Given the description of an element on the screen output the (x, y) to click on. 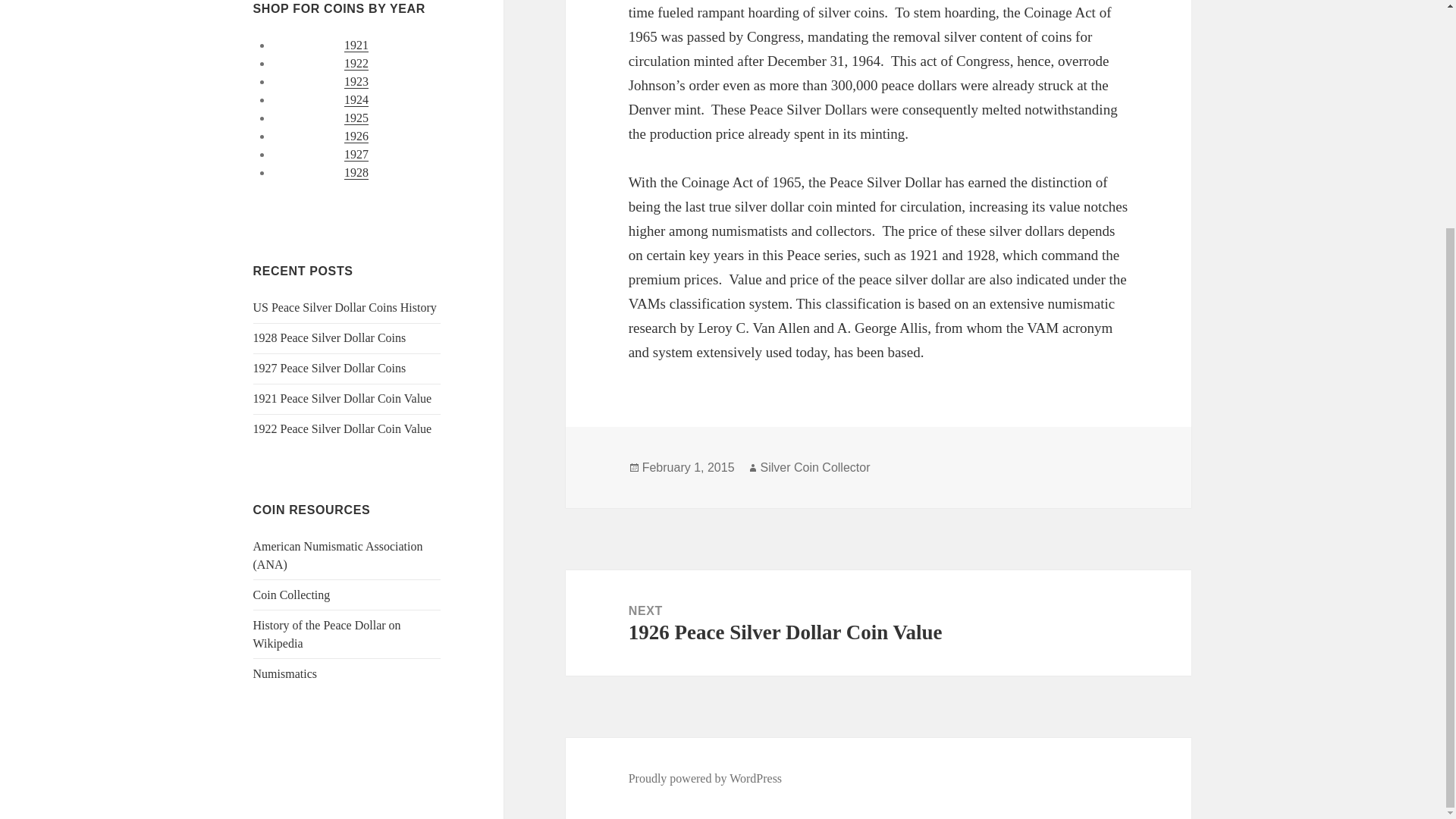
1924 (355, 100)
Search for 1928 Silver Coins (355, 172)
1926 (355, 136)
1925 (355, 118)
Proudly powered by WordPress (704, 778)
Search for 1925 Silver Coins (355, 118)
Search for 1922 Silver Coins (355, 63)
Search for 1923 Silver Coins (355, 81)
1921 (355, 45)
1927 Peace Silver Dollar Coins (329, 367)
